Given the description of an element on the screen output the (x, y) to click on. 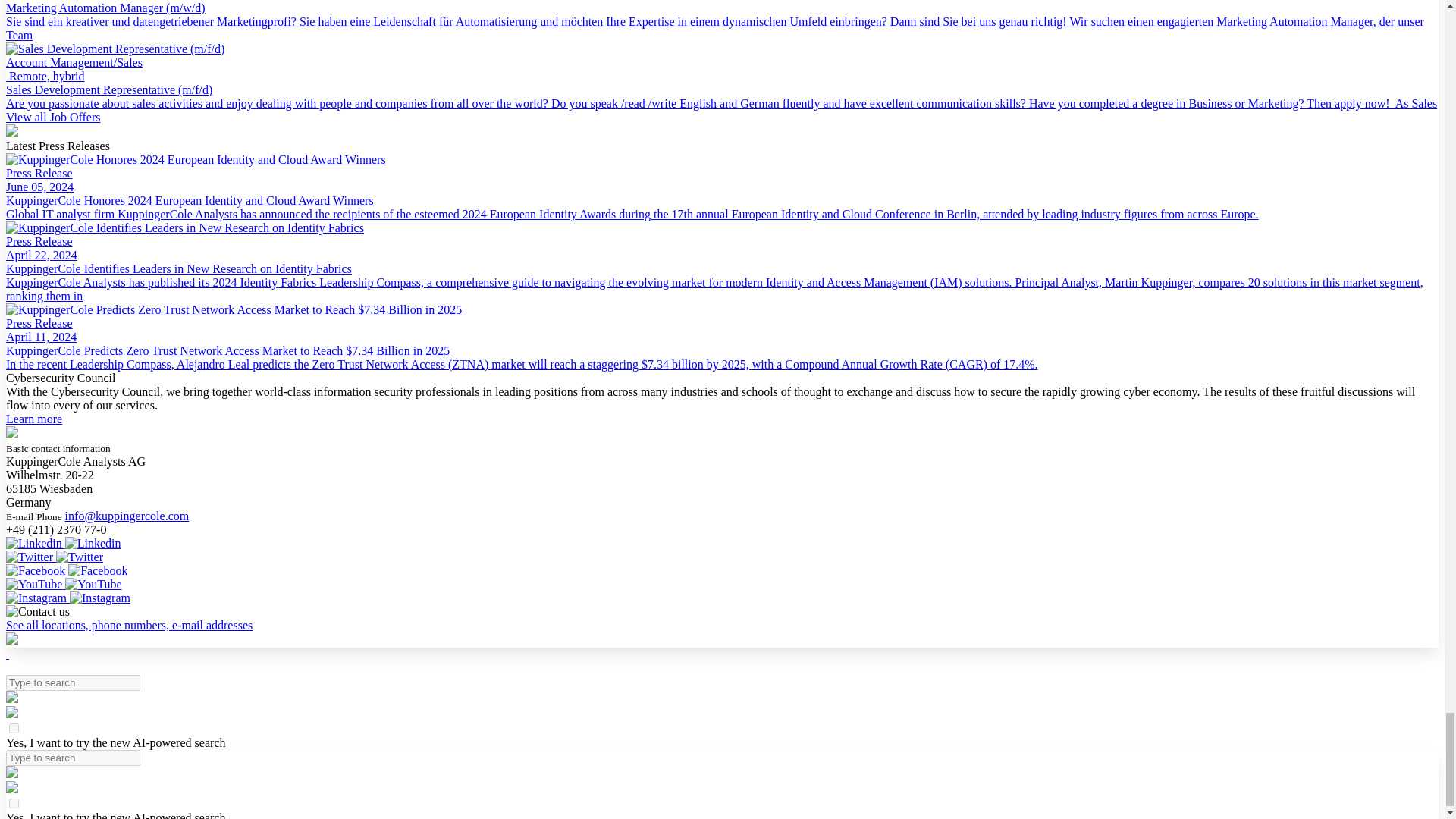
on (13, 803)
on (13, 728)
